Given the description of an element on the screen output the (x, y) to click on. 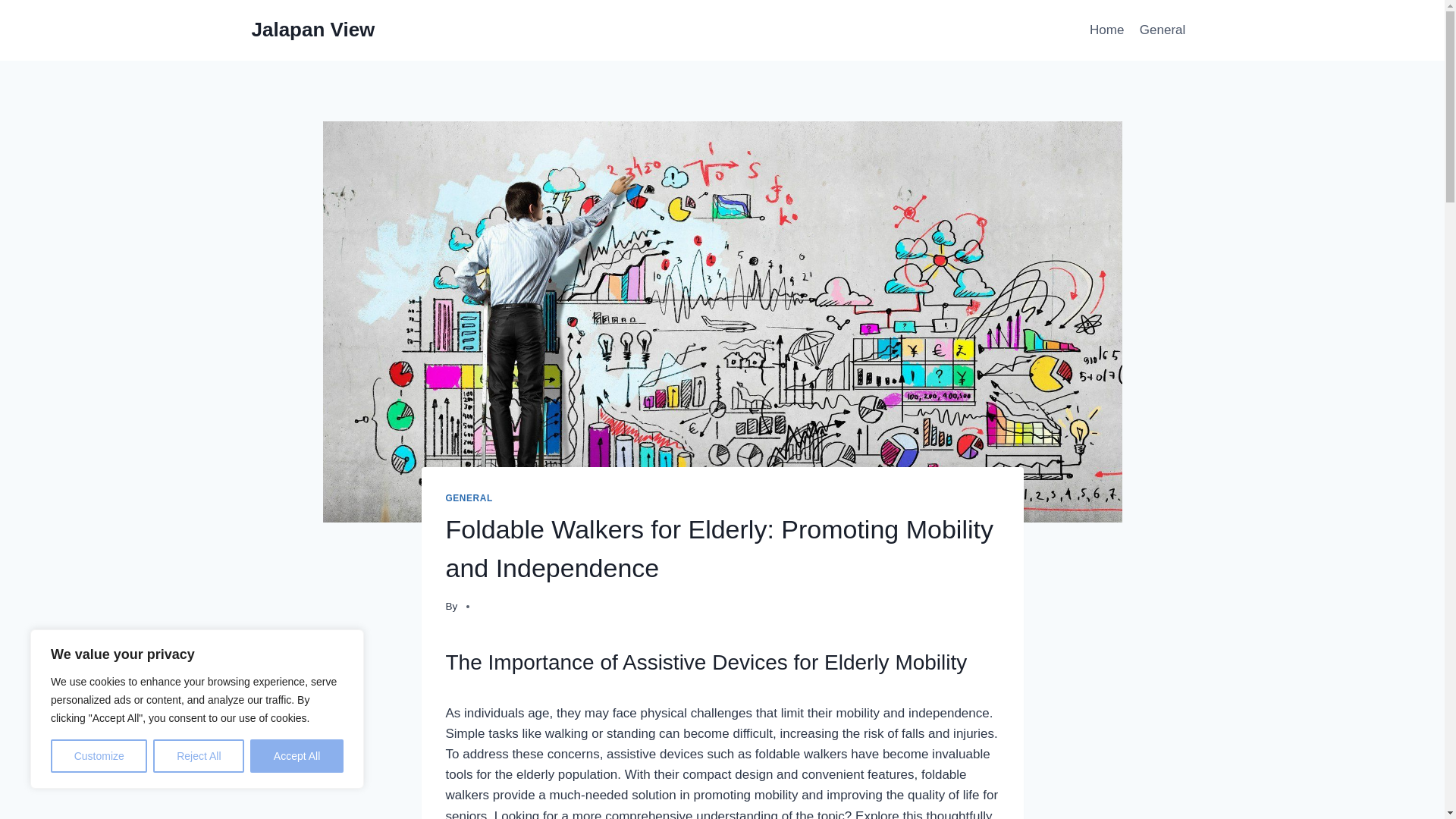
Customize (98, 756)
General (1162, 30)
Reject All (198, 756)
GENERAL (469, 498)
Jalapan View (313, 29)
Accept All (296, 756)
Home (1106, 30)
